Given the description of an element on the screen output the (x, y) to click on. 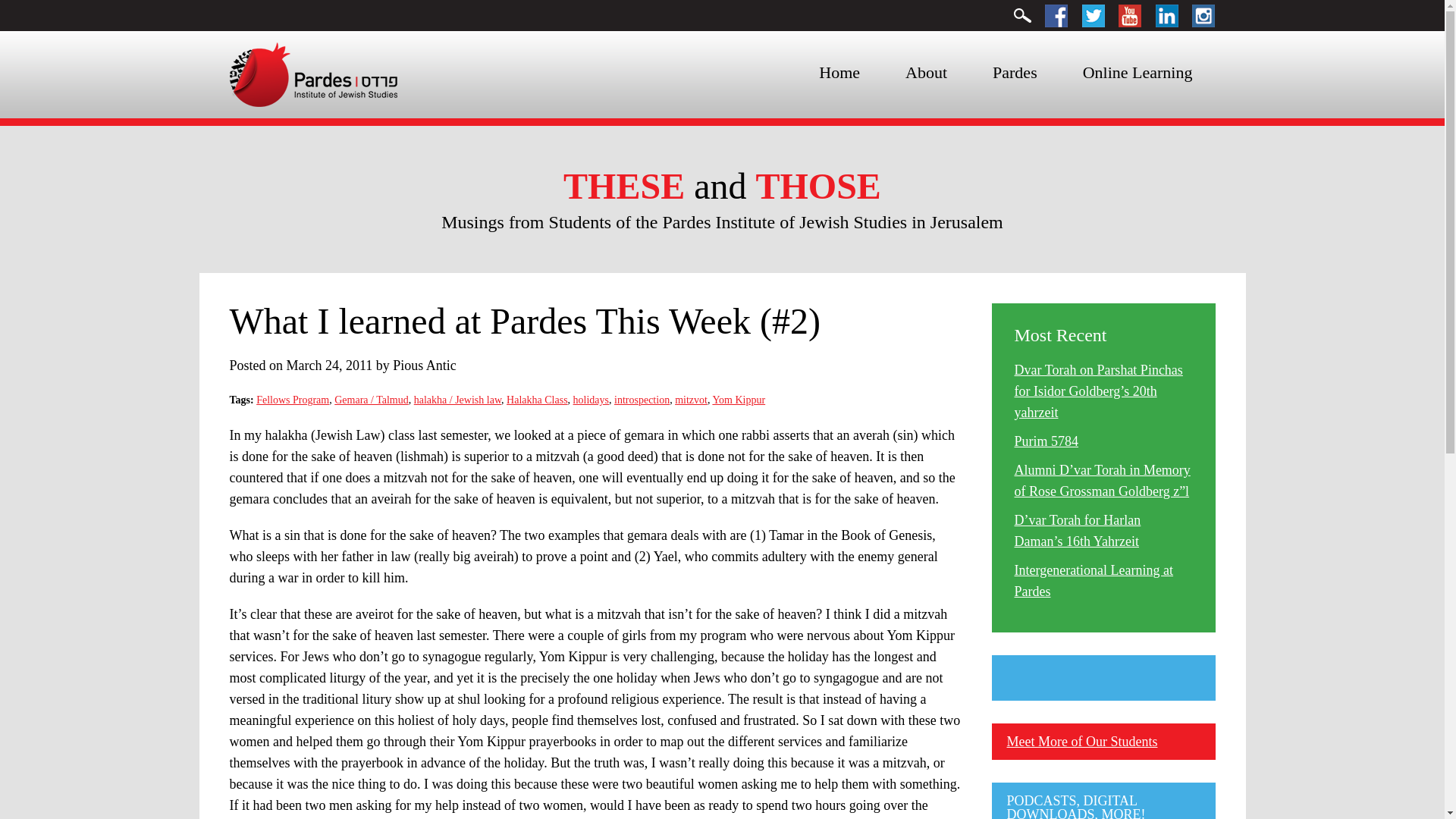
Pardes (1014, 72)
Yom Kippur (738, 399)
Purim 5784 (1046, 441)
Fellows Program (292, 399)
About (925, 72)
Halakha Class (536, 399)
Online Learning (1137, 72)
Intergenerational Learning at Pardes (1093, 580)
Home (839, 72)
THESE and THOSE (721, 186)
